Given the description of an element on the screen output the (x, y) to click on. 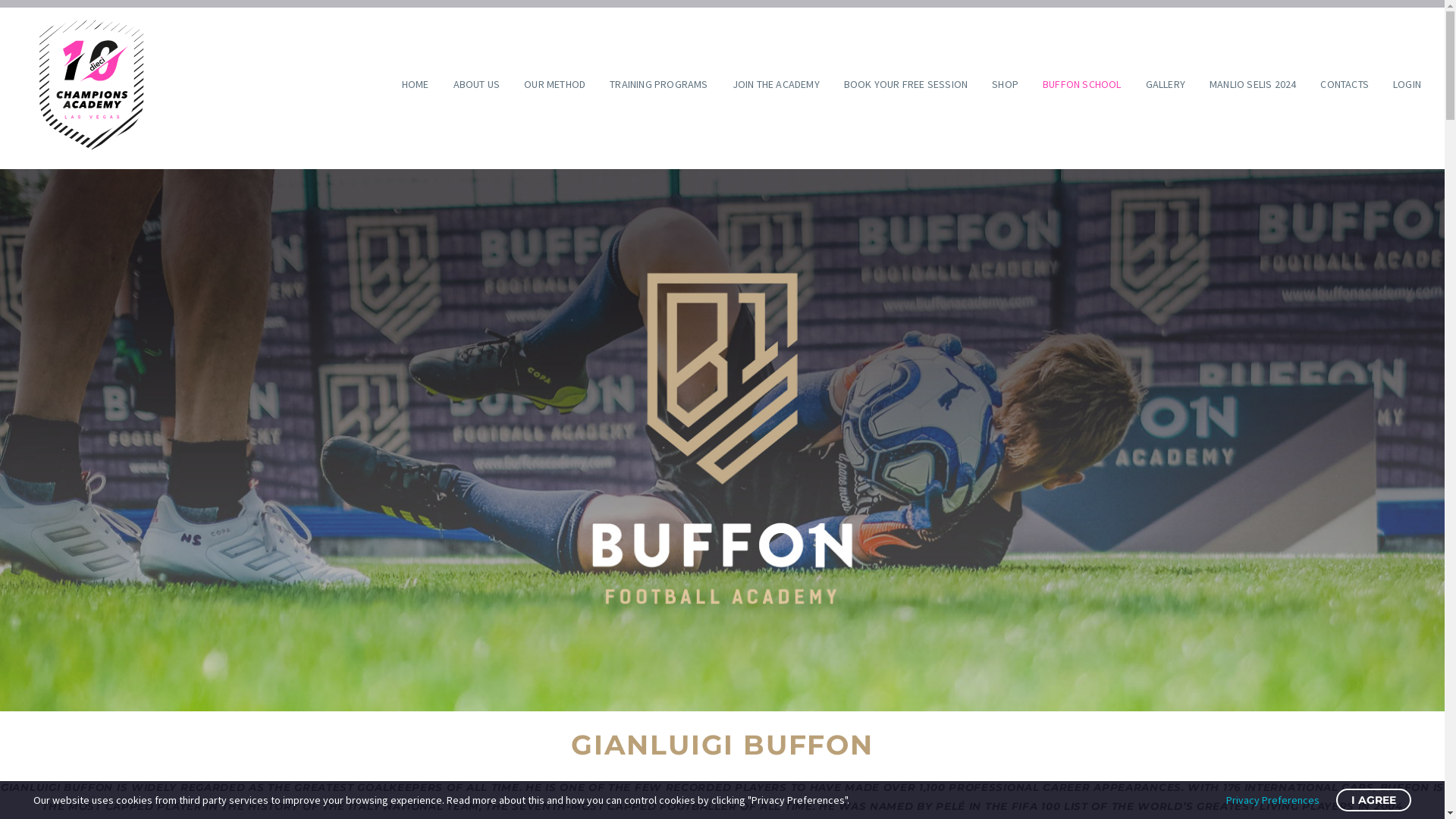
JOIN THE ACADEMY Element type: text (775, 83)
GALLERY Element type: text (1165, 83)
CONTACTS Element type: text (1344, 83)
LOGIN Element type: text (1406, 83)
TRAINING PROGRAMS Element type: text (658, 83)
MANLIO SELIS 2024 Element type: text (1252, 83)
ABOUT US Element type: text (476, 83)
Privacy Preferences Element type: text (1272, 799)
HOME Element type: text (415, 83)
SHOP Element type: text (1004, 83)
BOOK YOUR FREE SESSION Element type: text (905, 83)
OUR METHOD Element type: text (554, 83)
I AGREE Element type: text (1373, 799)
BUFFON SCHOOL Element type: text (1081, 83)
header Element type: hover (722, 438)
